Given the description of an element on the screen output the (x, y) to click on. 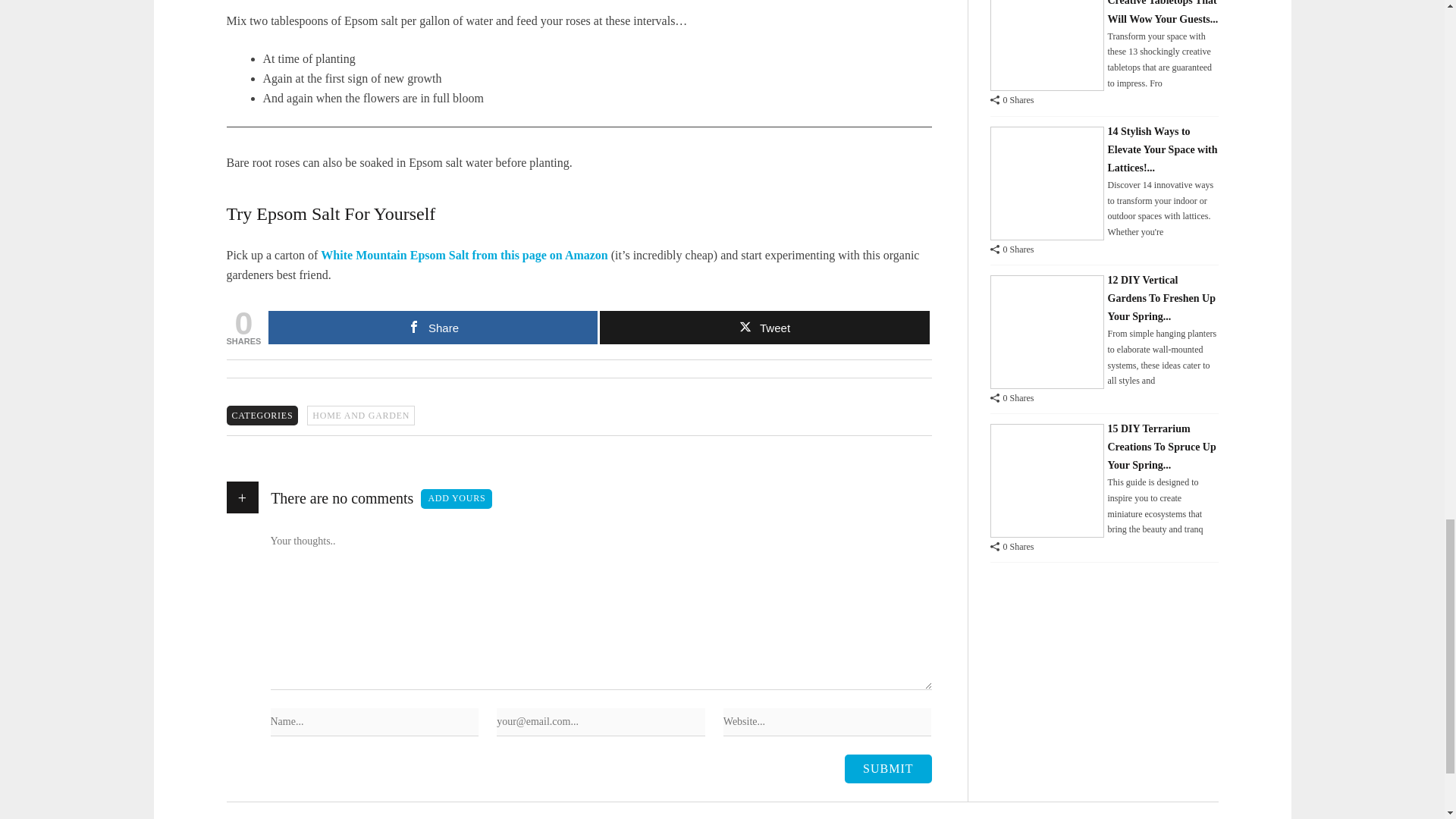
White Mountain Epsom Salt from this page on Amazon (463, 254)
ADD YOURS (456, 498)
Submit (887, 768)
HOME AND GARDEN (360, 415)
Share (431, 327)
Tweet (763, 327)
View all posts in Home and Garden (360, 415)
Submit (887, 768)
